Given the description of an element on the screen output the (x, y) to click on. 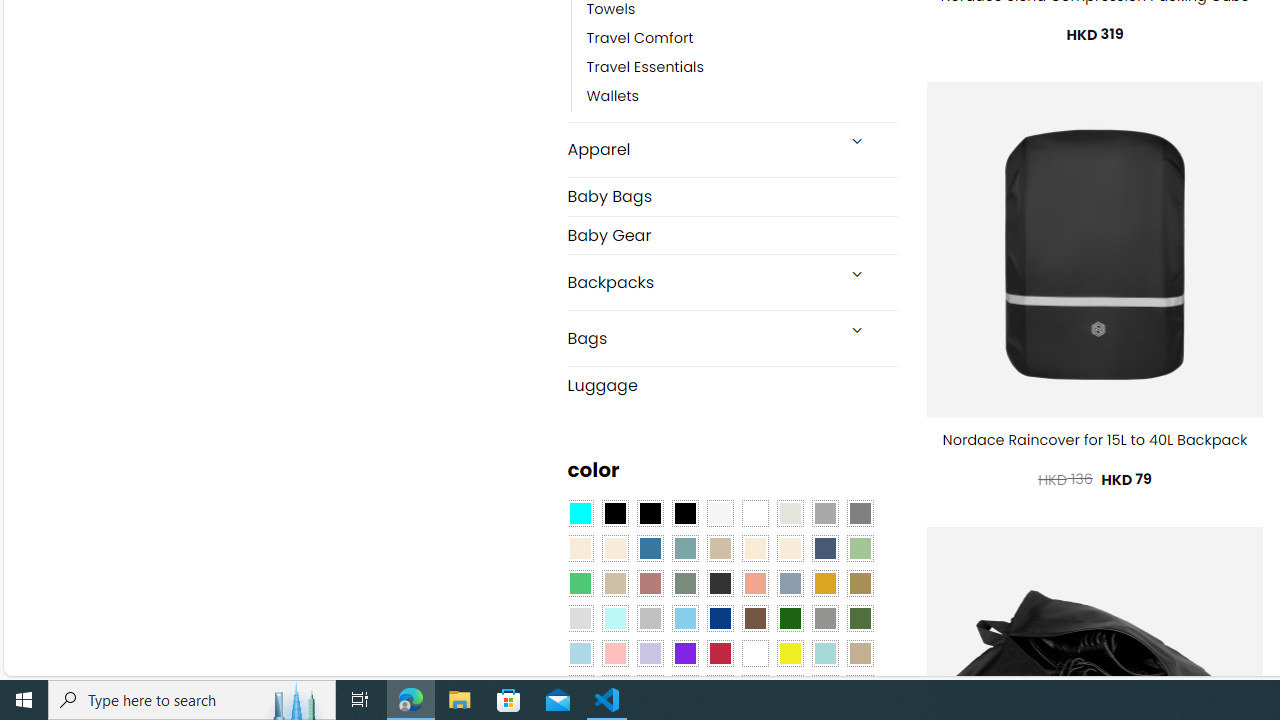
Coral (755, 583)
Navy Blue (719, 619)
Emerald Green (579, 583)
Rose (650, 583)
Light Blue (579, 653)
White (755, 653)
Baby Bags (732, 196)
Red (719, 653)
Dark Green (789, 619)
Gold (824, 583)
Sage (684, 583)
Bags (700, 337)
Brown (755, 619)
